Given the description of an element on the screen output the (x, y) to click on. 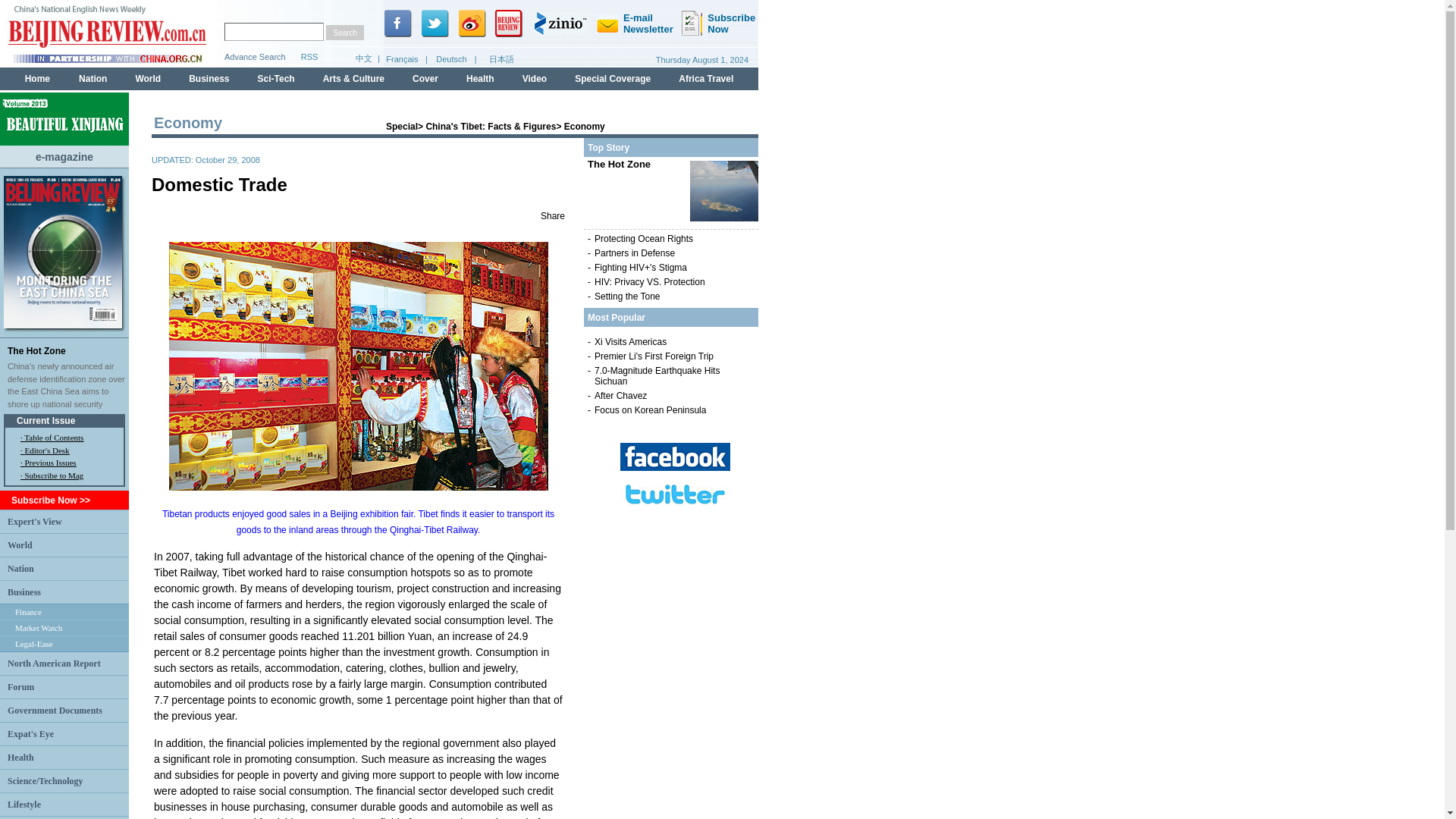
Market Watch (38, 627)
Finance (28, 611)
Legal-Ease (33, 643)
Lifestyle (23, 804)
Table of Contents (53, 437)
Health (20, 757)
Expert's View (34, 520)
Nation (20, 567)
Current Issue (45, 420)
Expat's Eye (30, 733)
